Given the description of an element on the screen output the (x, y) to click on. 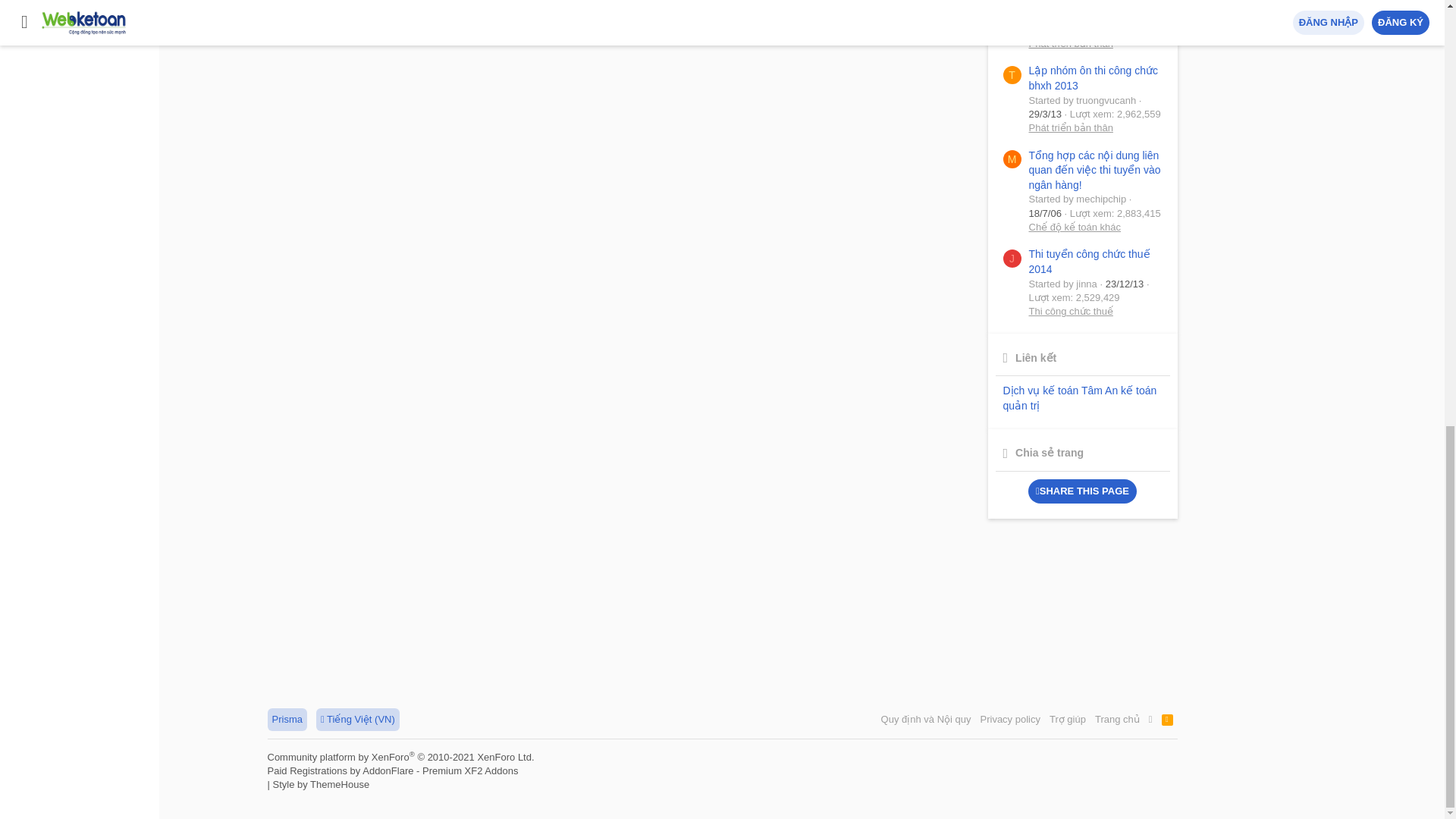
RSS (1167, 719)
Top (1150, 719)
